Given the description of an element on the screen output the (x, y) to click on. 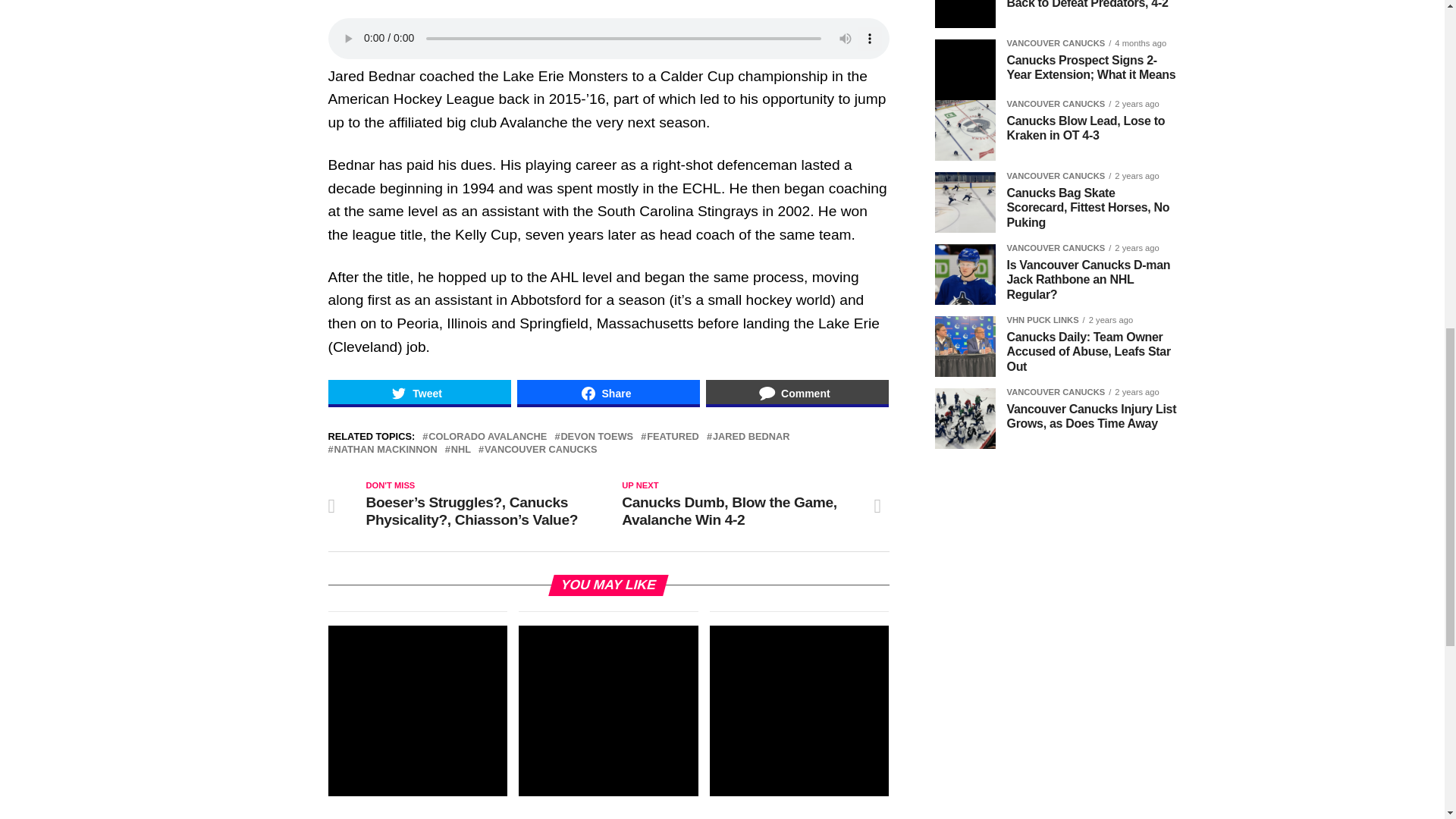
Share on Share (608, 393)
Share on Comment (797, 393)
Share on Tweet (419, 393)
